Given the description of an element on the screen output the (x, y) to click on. 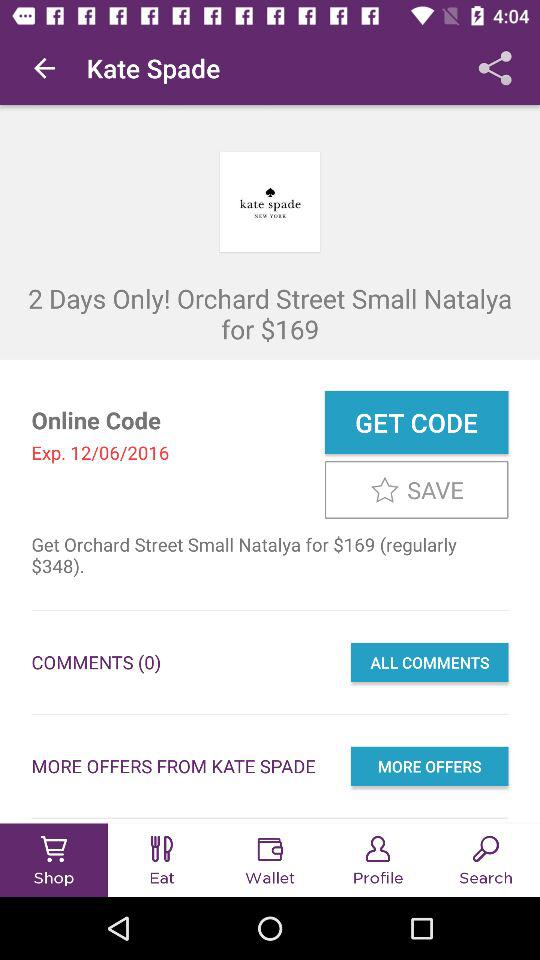
press the item below get orchard street (429, 662)
